Given the description of an element on the screen output the (x, y) to click on. 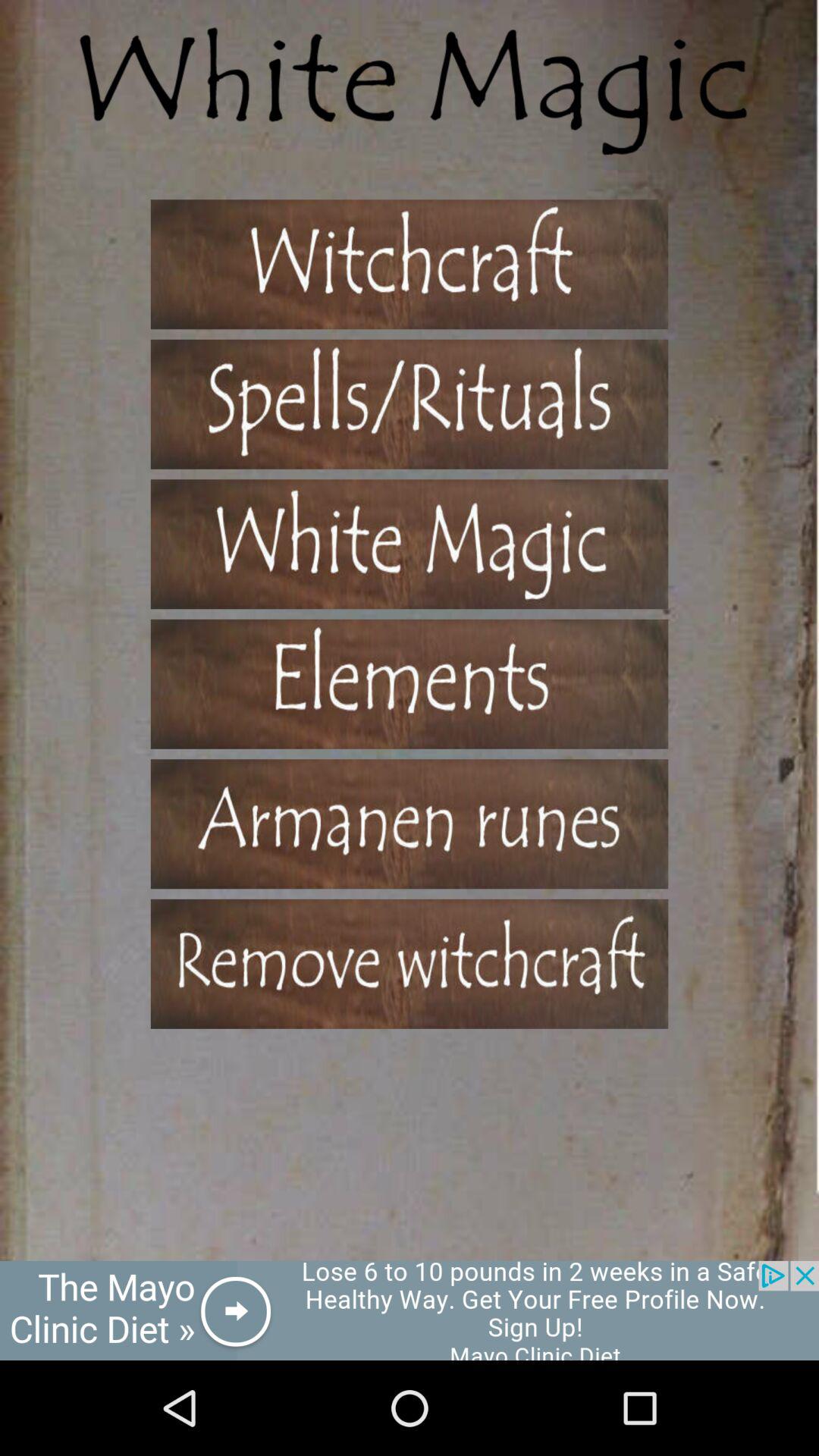
remove option (409, 963)
